Given the description of an element on the screen output the (x, y) to click on. 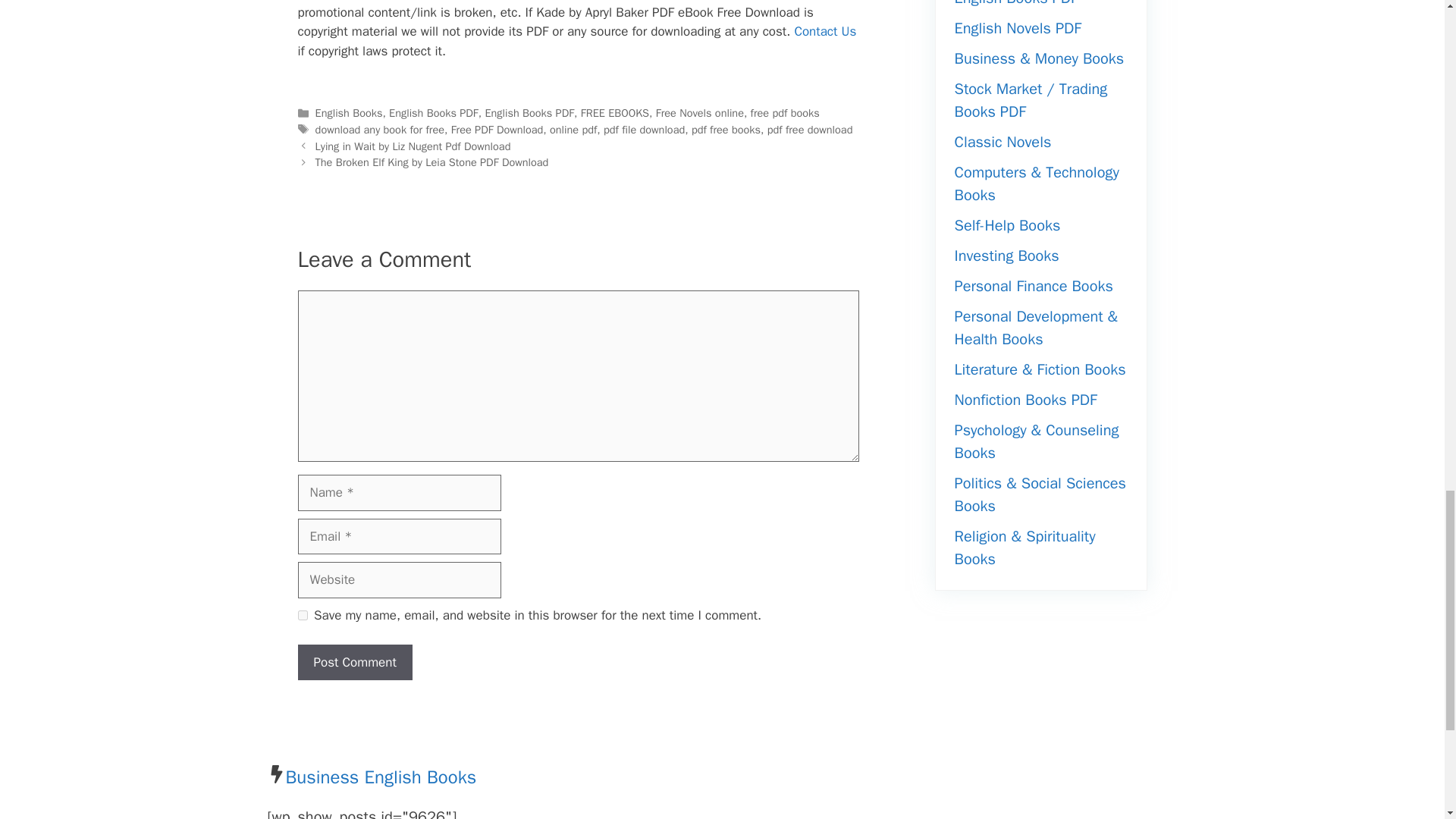
pdf free download (810, 129)
Contact Us (824, 31)
English Books PDF (528, 112)
Free PDF Download (497, 129)
free pdf books (785, 112)
online pdf (573, 129)
English Books PDF (433, 112)
pdf file download (644, 129)
Post Comment (354, 662)
English Books (348, 112)
